Given the description of an element on the screen output the (x, y) to click on. 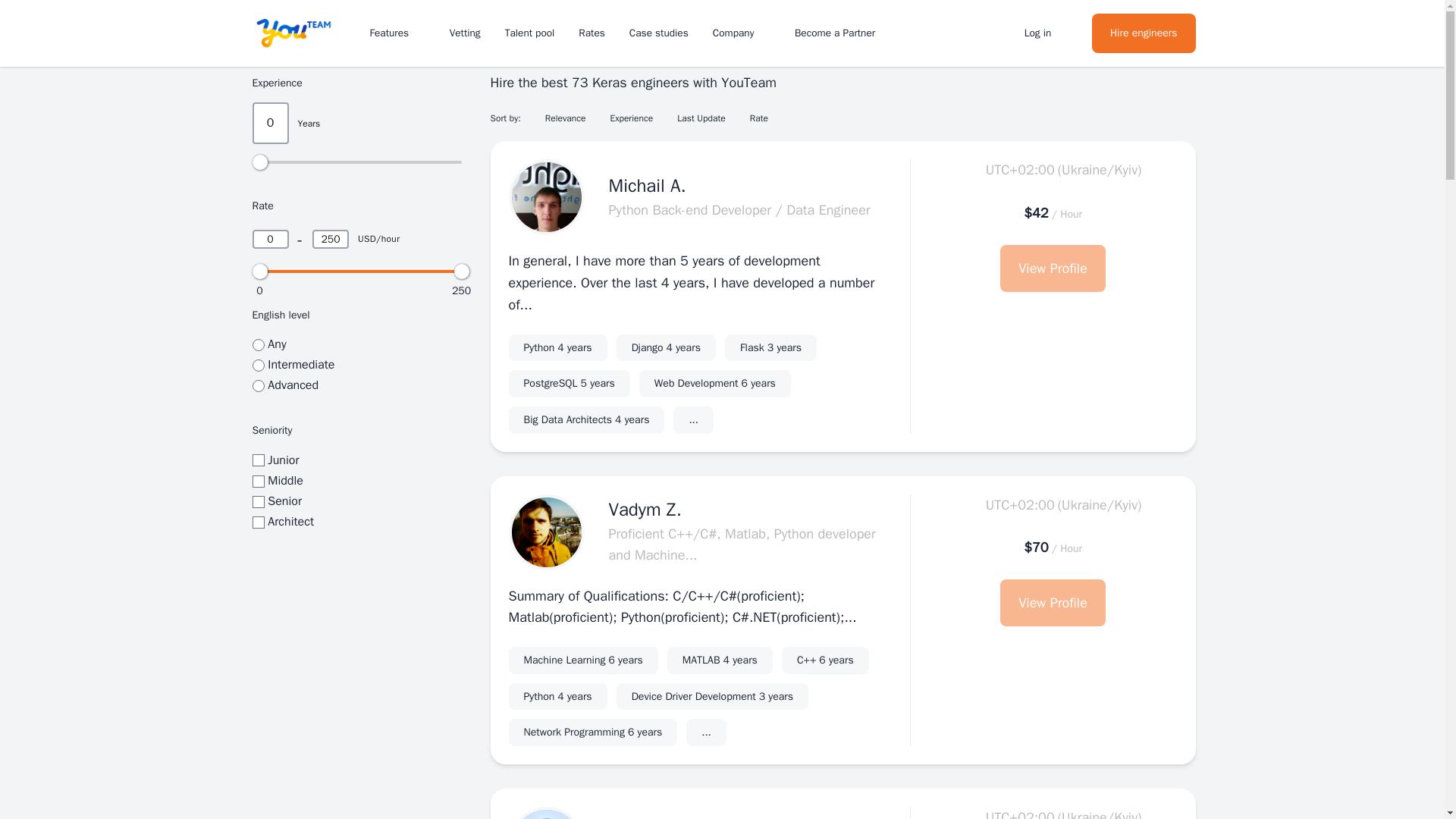
0 (257, 460)
Log in (665, 347)
Case studies (1046, 32)
6 (714, 383)
0 (658, 32)
Talent pool (257, 386)
View Profile (257, 345)
